Given the description of an element on the screen output the (x, y) to click on. 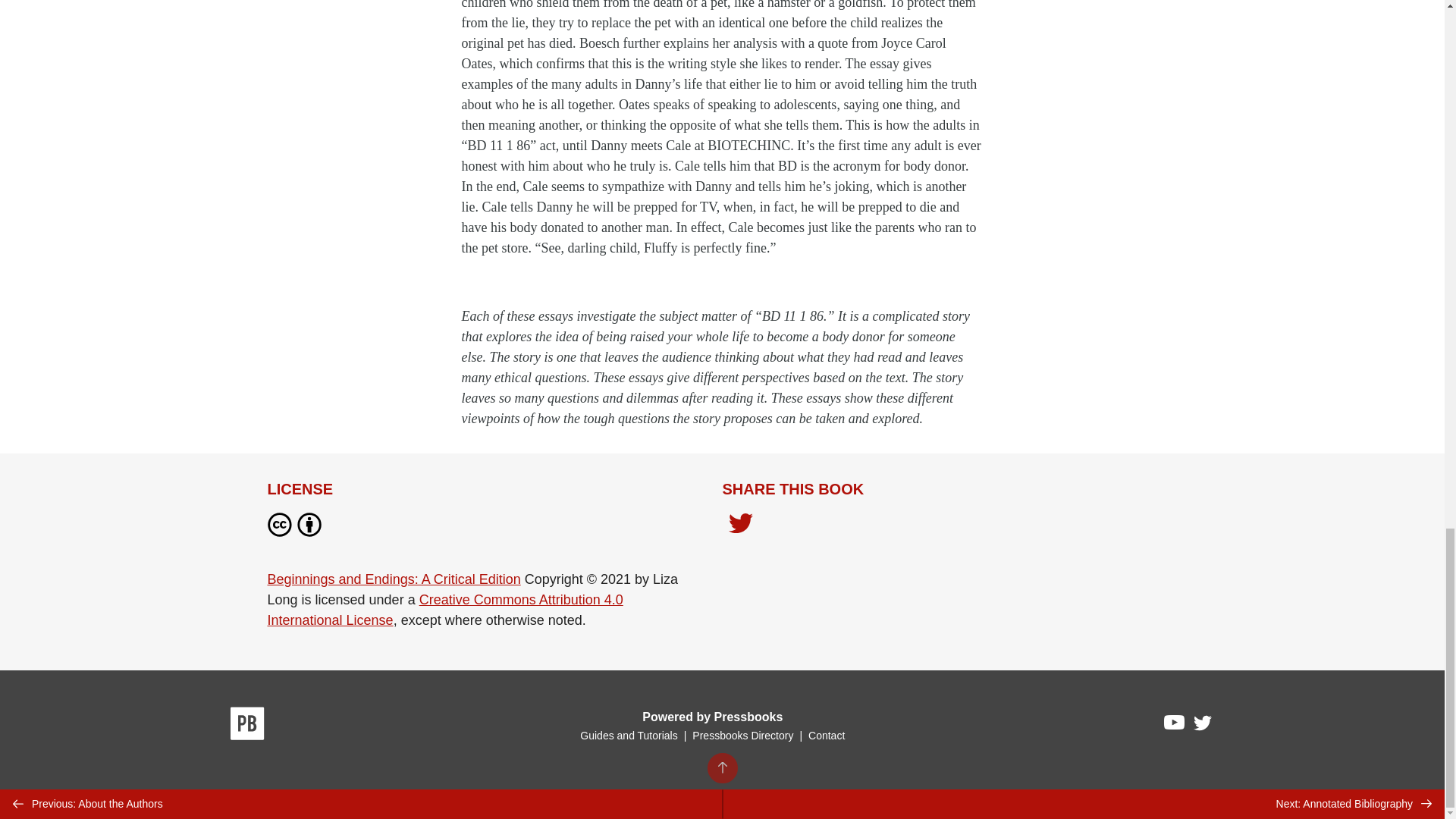
Contact (826, 735)
Beginnings and Endings: A Critical Edition (392, 579)
Pressbooks Directory (742, 735)
Powered by Pressbooks (712, 716)
Creative Commons Attribution 4.0 International License (444, 610)
Guides and Tutorials (627, 735)
Share on Twitter (740, 527)
Share on Twitter (740, 524)
Pressbooks on YouTube (1174, 725)
